Given the description of an element on the screen output the (x, y) to click on. 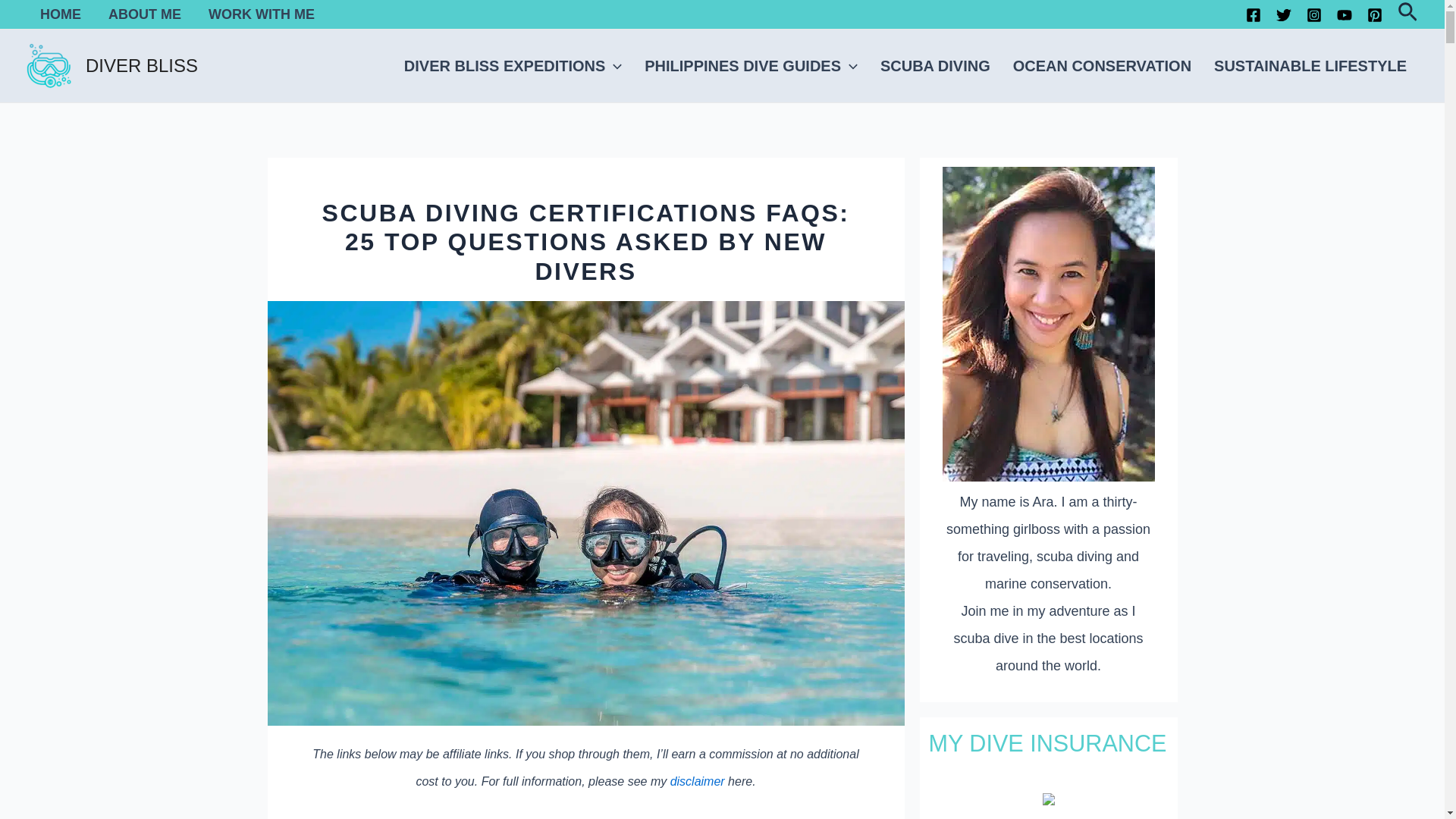
PHILIPPINES DIVE GUIDES (751, 66)
ABOUT ME (144, 14)
DIVER BLISS EXPEDITIONS (513, 66)
WORK WITH ME (262, 14)
HOME (60, 14)
DIVER BLISS (141, 65)
